Given the description of an element on the screen output the (x, y) to click on. 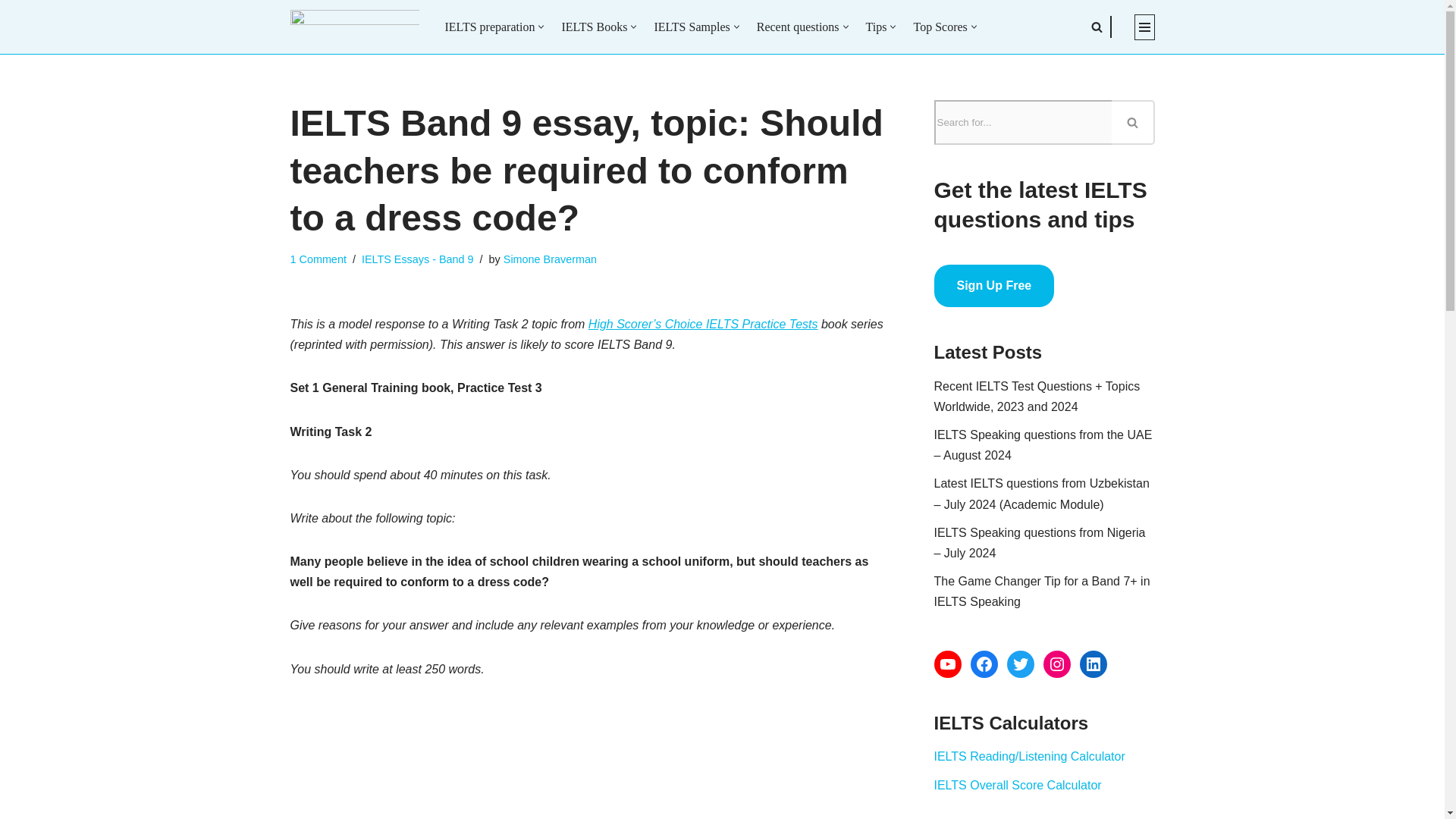
IELTS preparation (489, 26)
IELTS Samples (691, 26)
IELTS Books (593, 26)
Skip to content (11, 31)
Posts by Simone Braverman (549, 259)
Recent questions (798, 26)
Tips (876, 26)
Top Scores (939, 26)
